Given the description of an element on the screen output the (x, y) to click on. 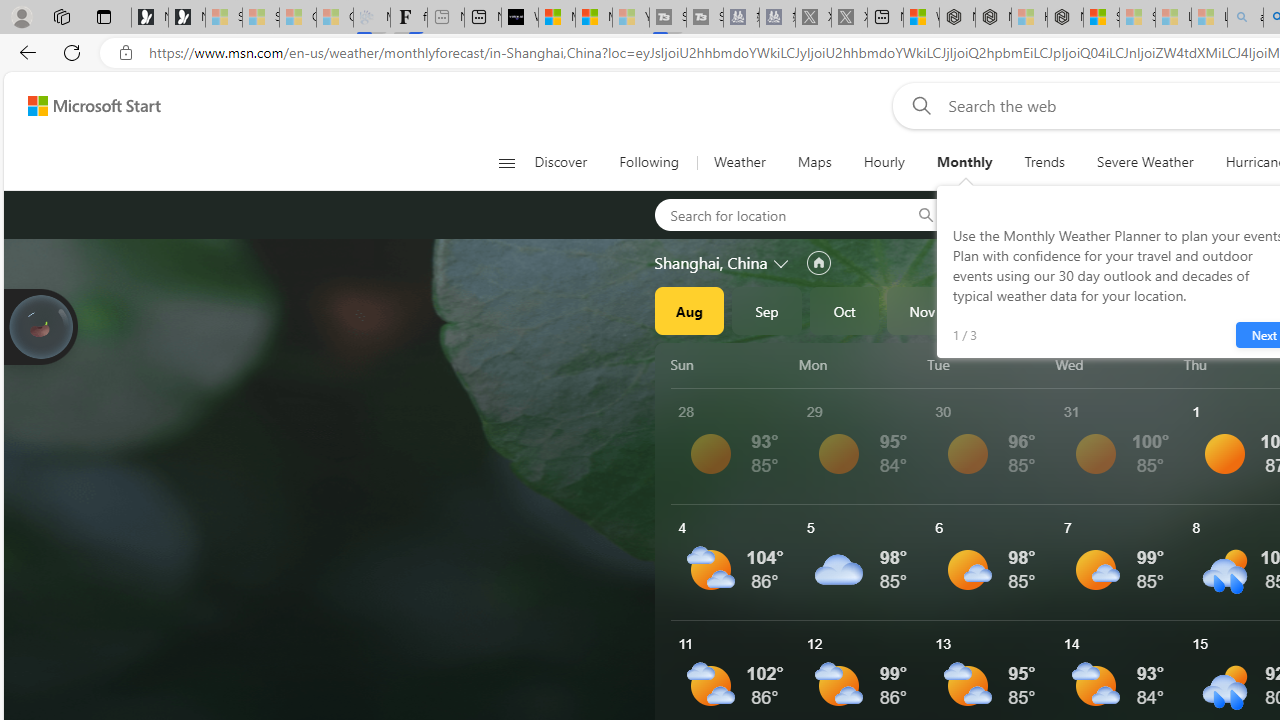
Sep (767, 310)
Hourly (884, 162)
Search for location (776, 214)
